Given the description of an element on the screen output the (x, y) to click on. 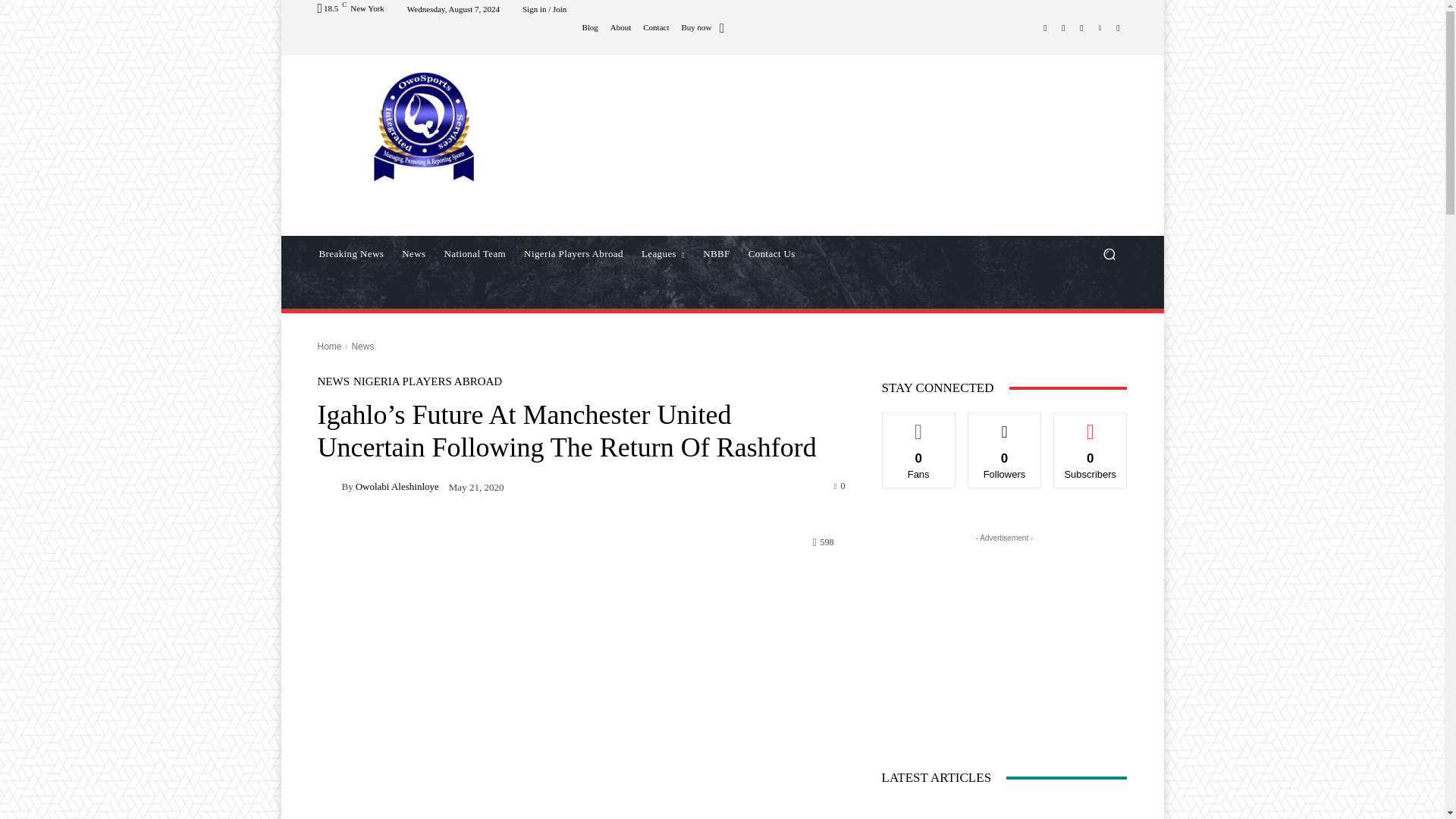
News (413, 253)
Contact (655, 27)
Blog (588, 27)
Twitter (1080, 27)
Leagues (662, 253)
Contact Us (772, 253)
National Team (474, 253)
Breaking News (350, 253)
Vimeo (1099, 27)
NBBF (716, 253)
